Given the description of an element on the screen output the (x, y) to click on. 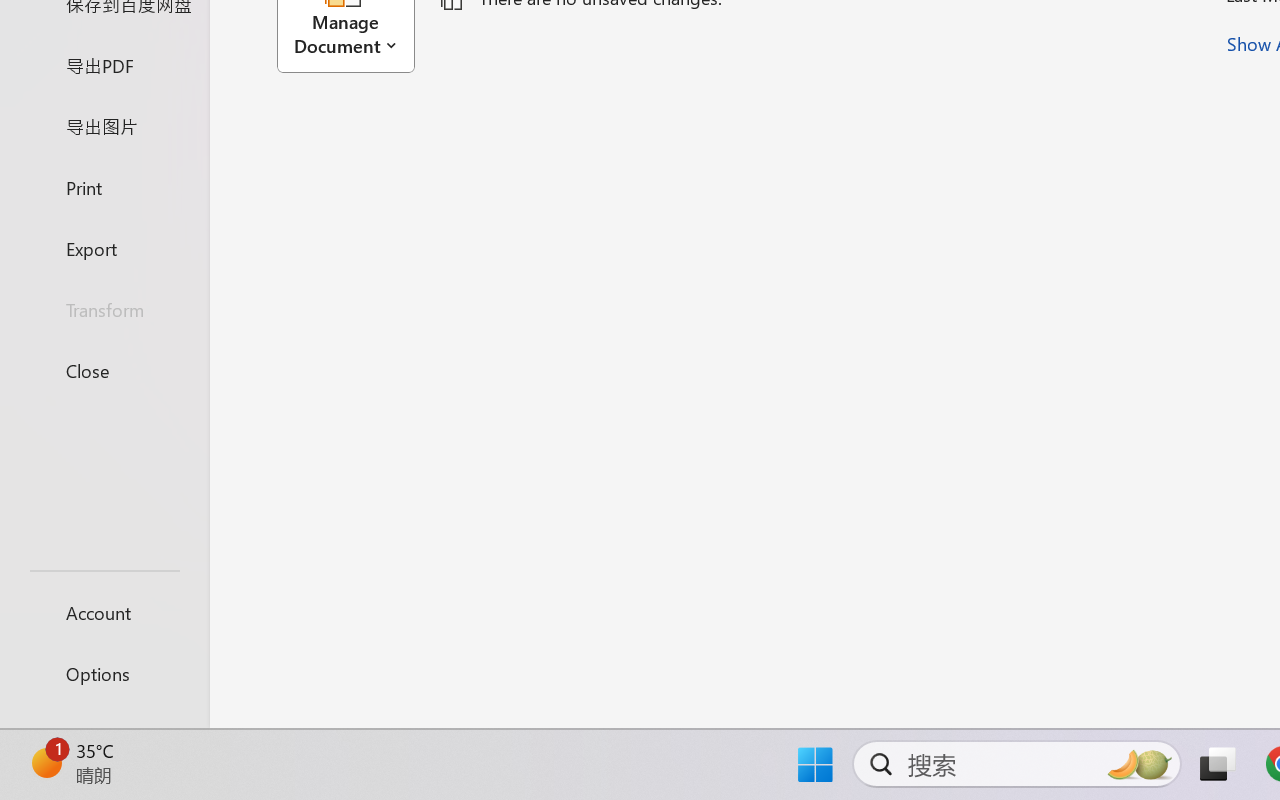
Transform (104, 309)
Account (104, 612)
Print (104, 186)
Options (104, 673)
Export (104, 248)
